Given the description of an element on the screen output the (x, y) to click on. 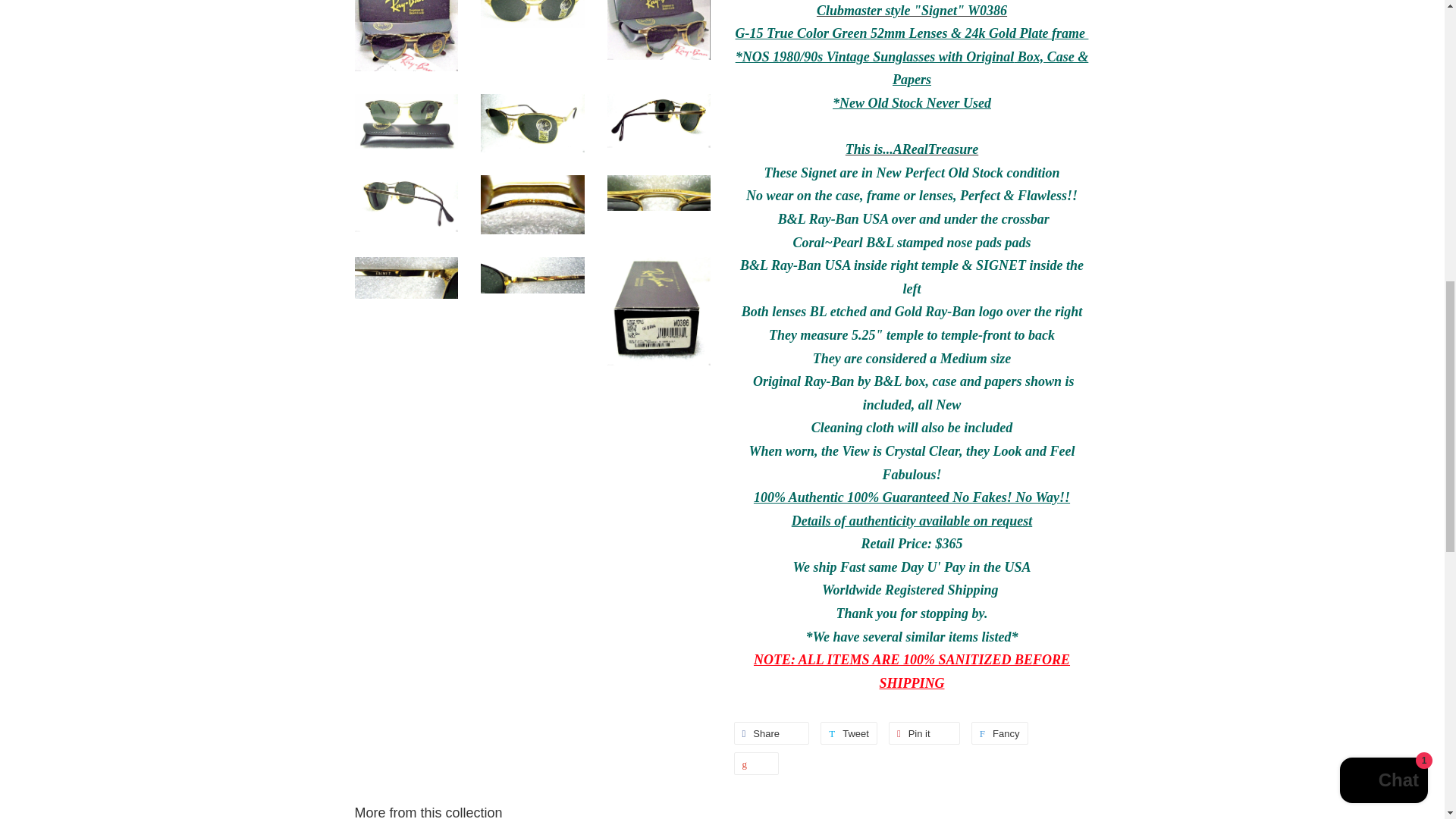
Pin it (923, 732)
Share (771, 732)
Tweet (849, 732)
